Given the description of an element on the screen output the (x, y) to click on. 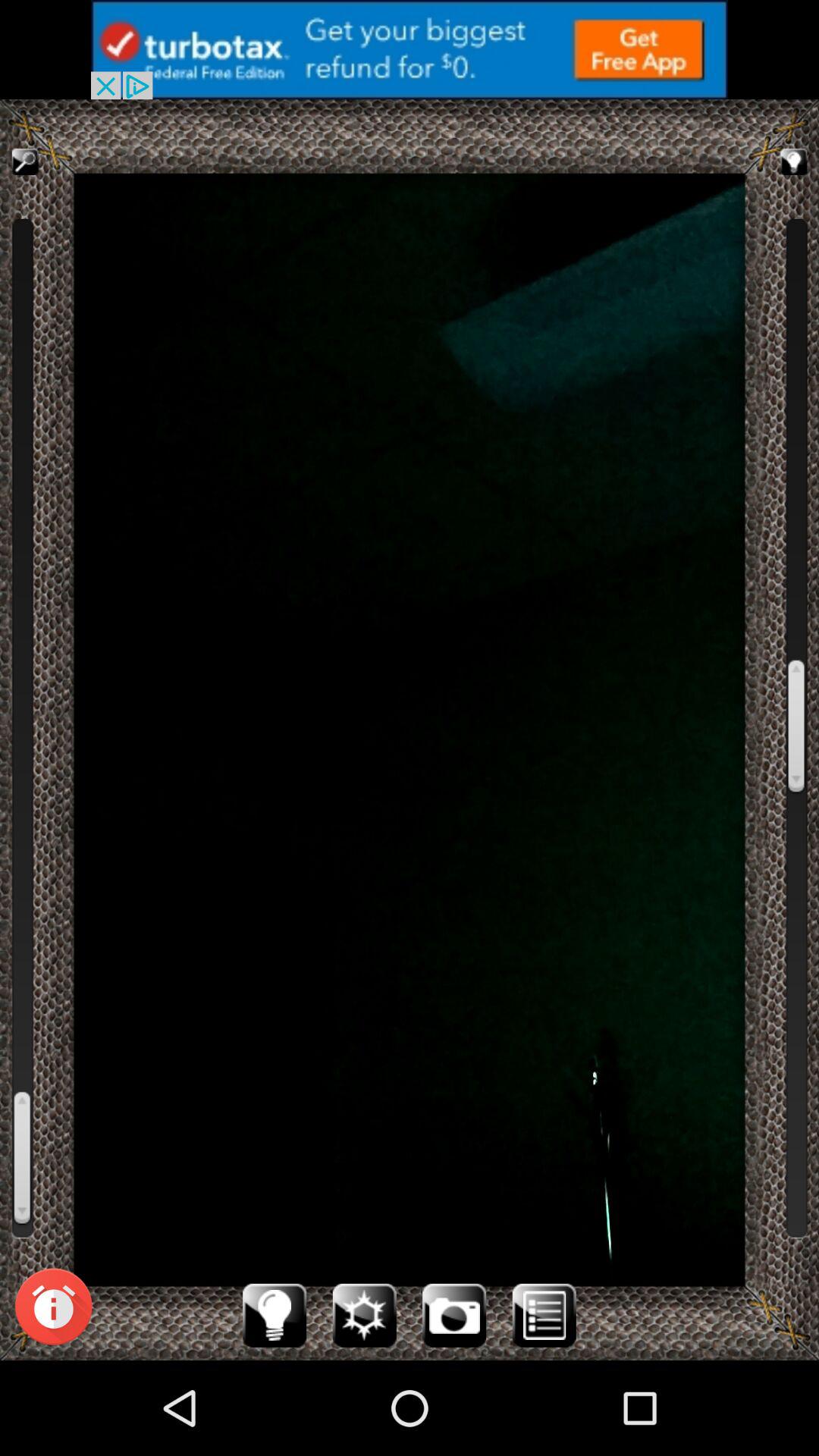
click camera icon (454, 1315)
